Given the description of an element on the screen output the (x, y) to click on. 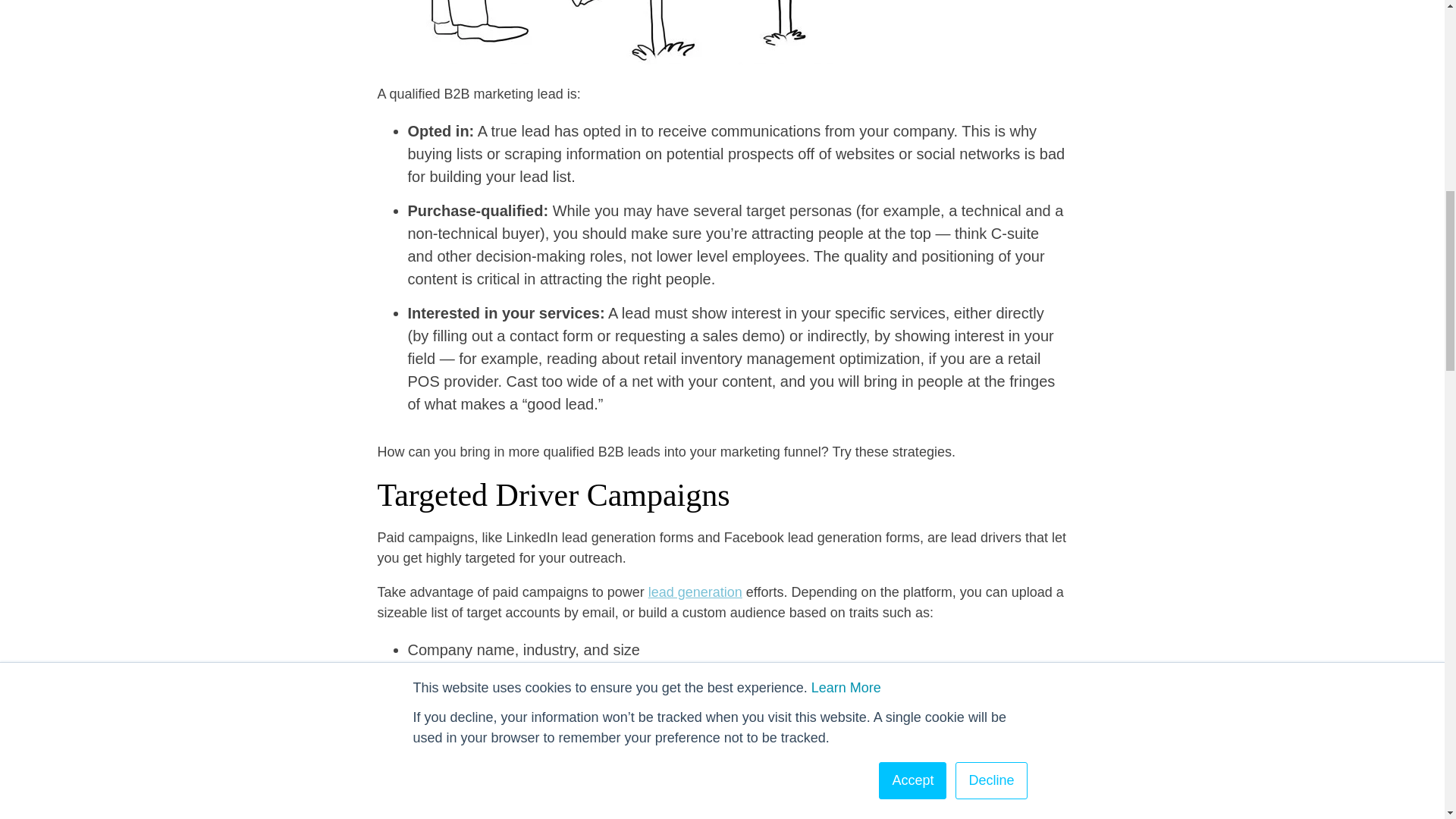
lead generation (694, 591)
